Given the description of an element on the screen output the (x, y) to click on. 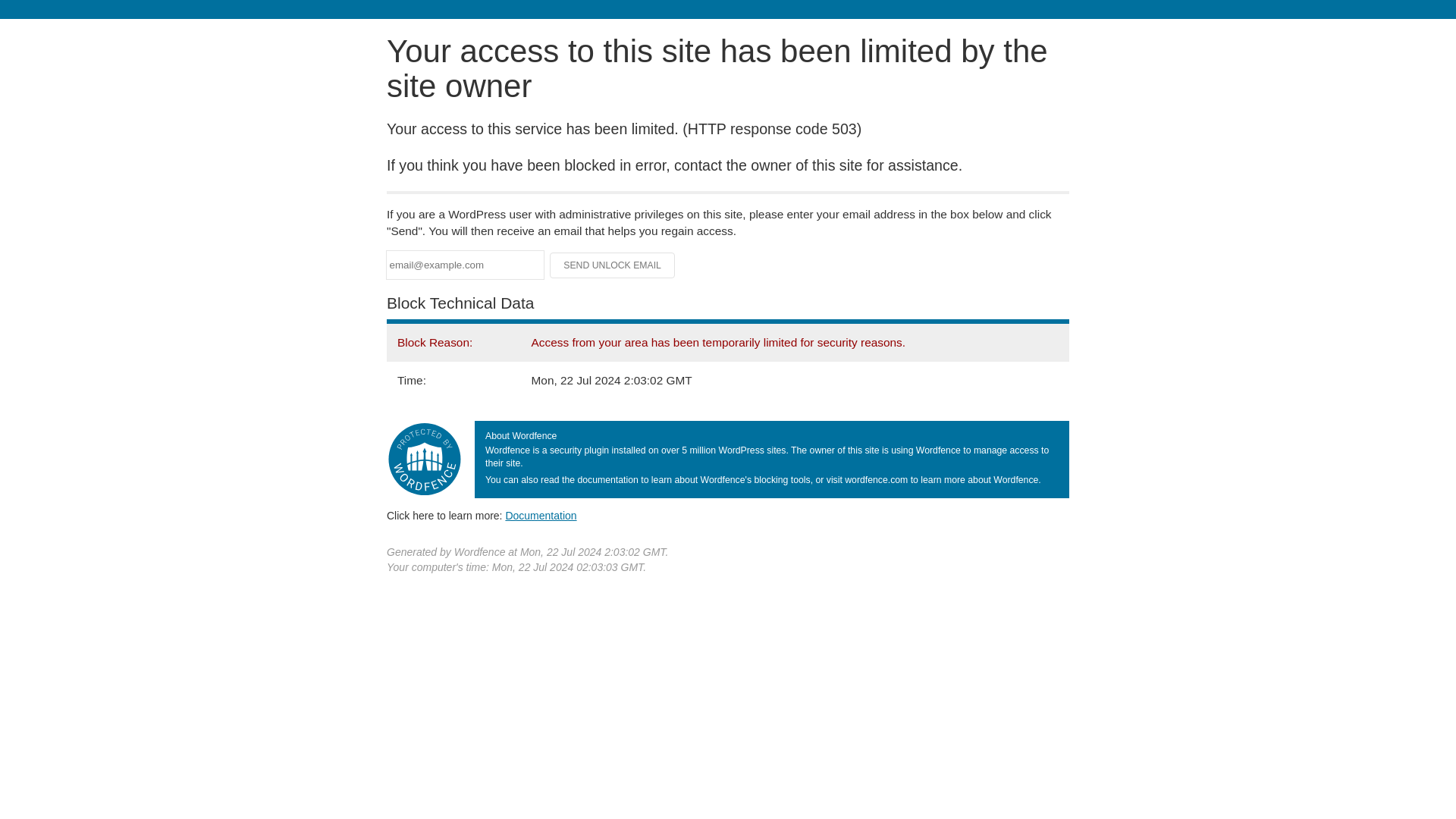
Send Unlock Email (612, 265)
Documentation (540, 515)
Send Unlock Email (612, 265)
